Given the description of an element on the screen output the (x, y) to click on. 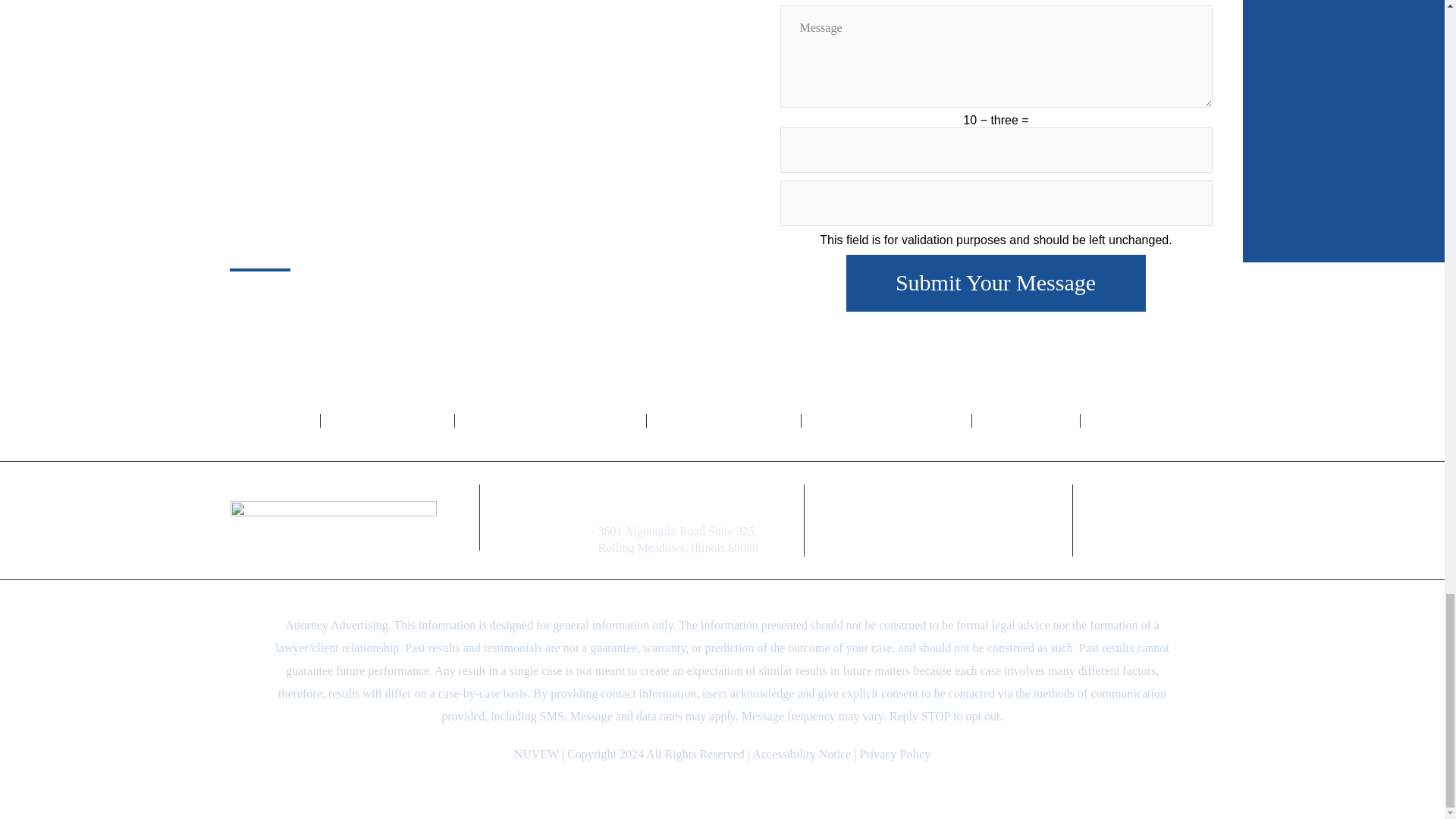
Submit Your Message (995, 283)
